Given the description of an element on the screen output the (x, y) to click on. 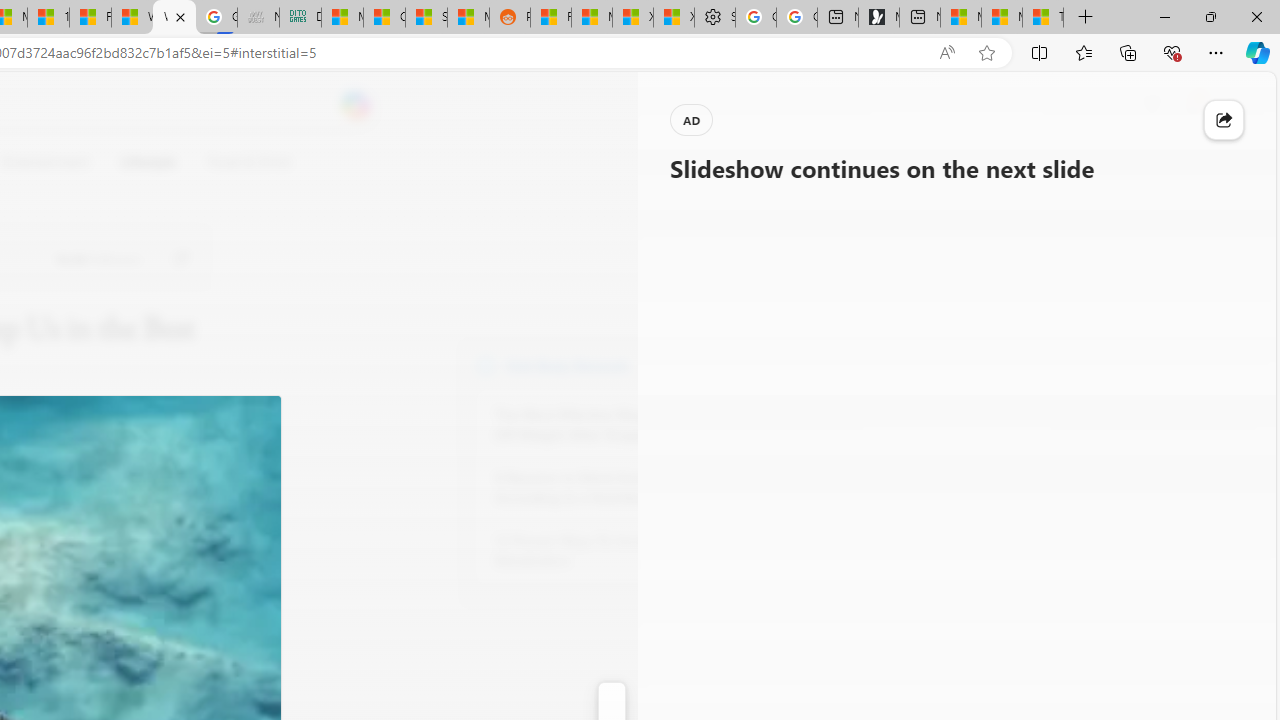
Body Network (486, 364)
8 Reasons to Drink Kombucha, According to a Nutritionist (603, 488)
Share this story (1224, 119)
